Given the description of an element on the screen output the (x, y) to click on. 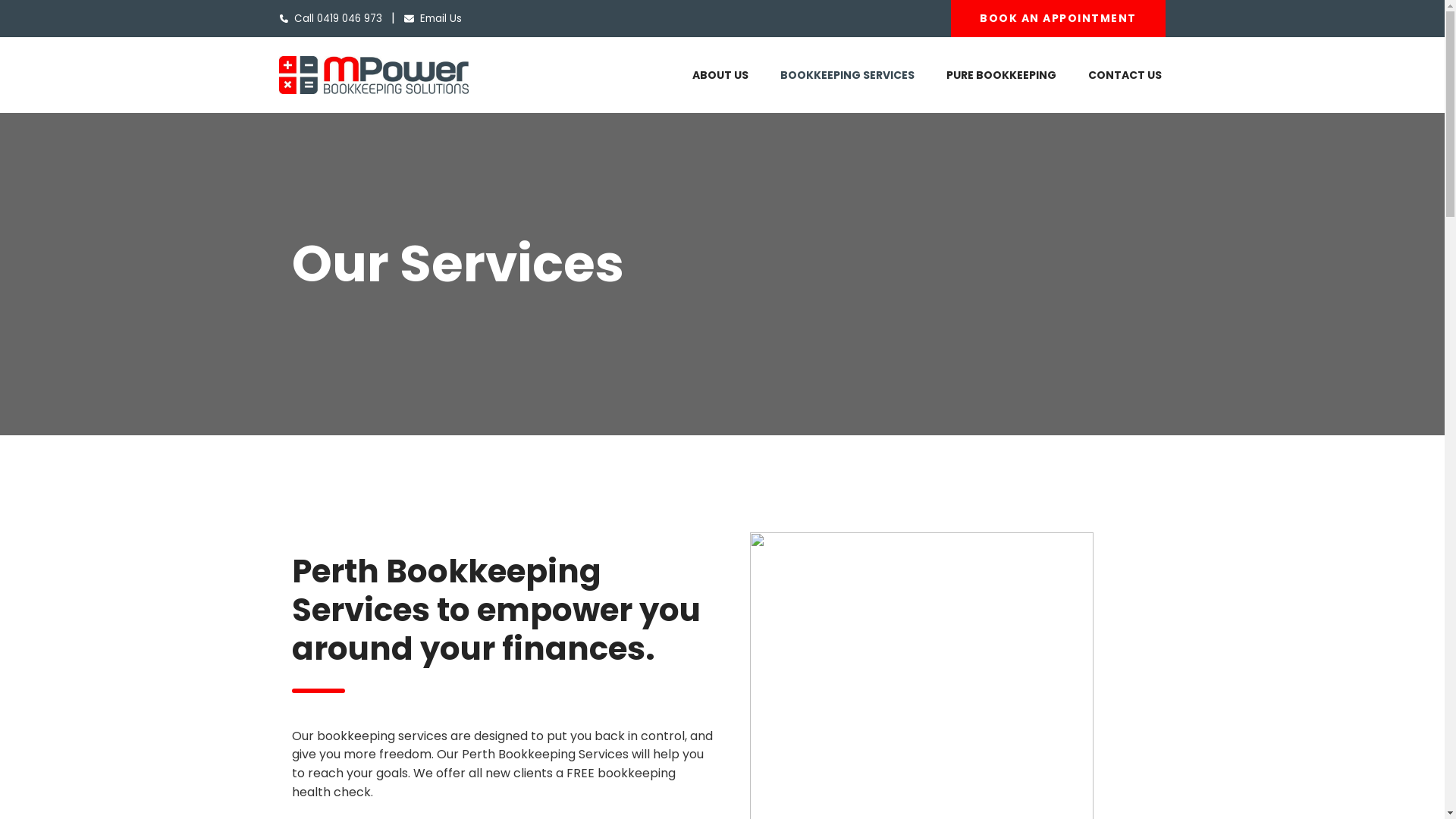
CONTACT US Element type: text (1124, 75)
PURE BOOKKEEPING Element type: text (1000, 75)
  Email Us Element type: text (437, 17)
BOOK AN APPOINTMENT Element type: text (1057, 18)
ABOUT US Element type: text (720, 75)
BOOKKEEPING SERVICES Element type: text (847, 75)
  Call 0419 046 973 Element type: text (330, 17)
